Given the description of an element on the screen output the (x, y) to click on. 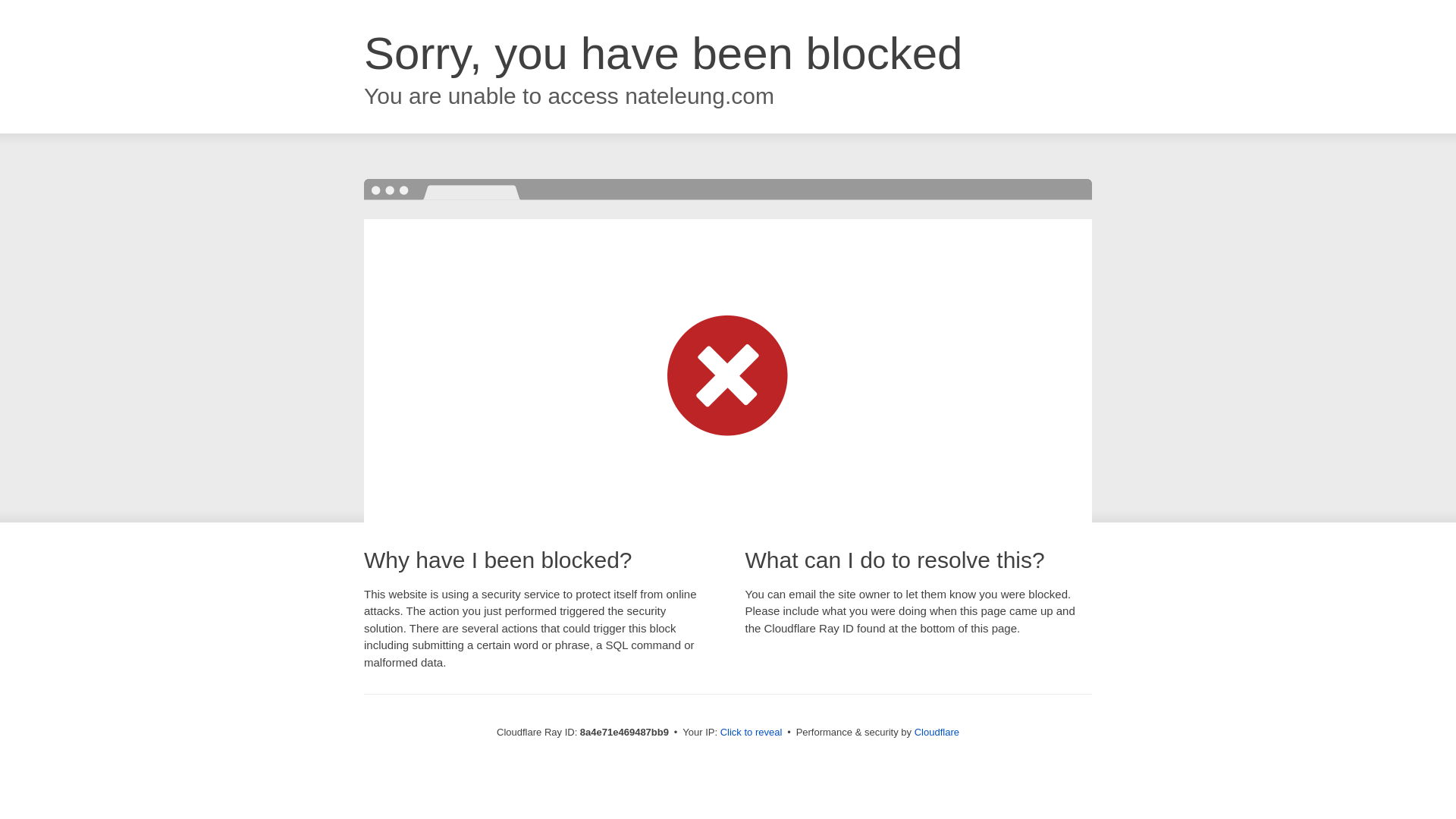
Click to reveal (751, 732)
Cloudflare (936, 731)
